Given the description of an element on the screen output the (x, y) to click on. 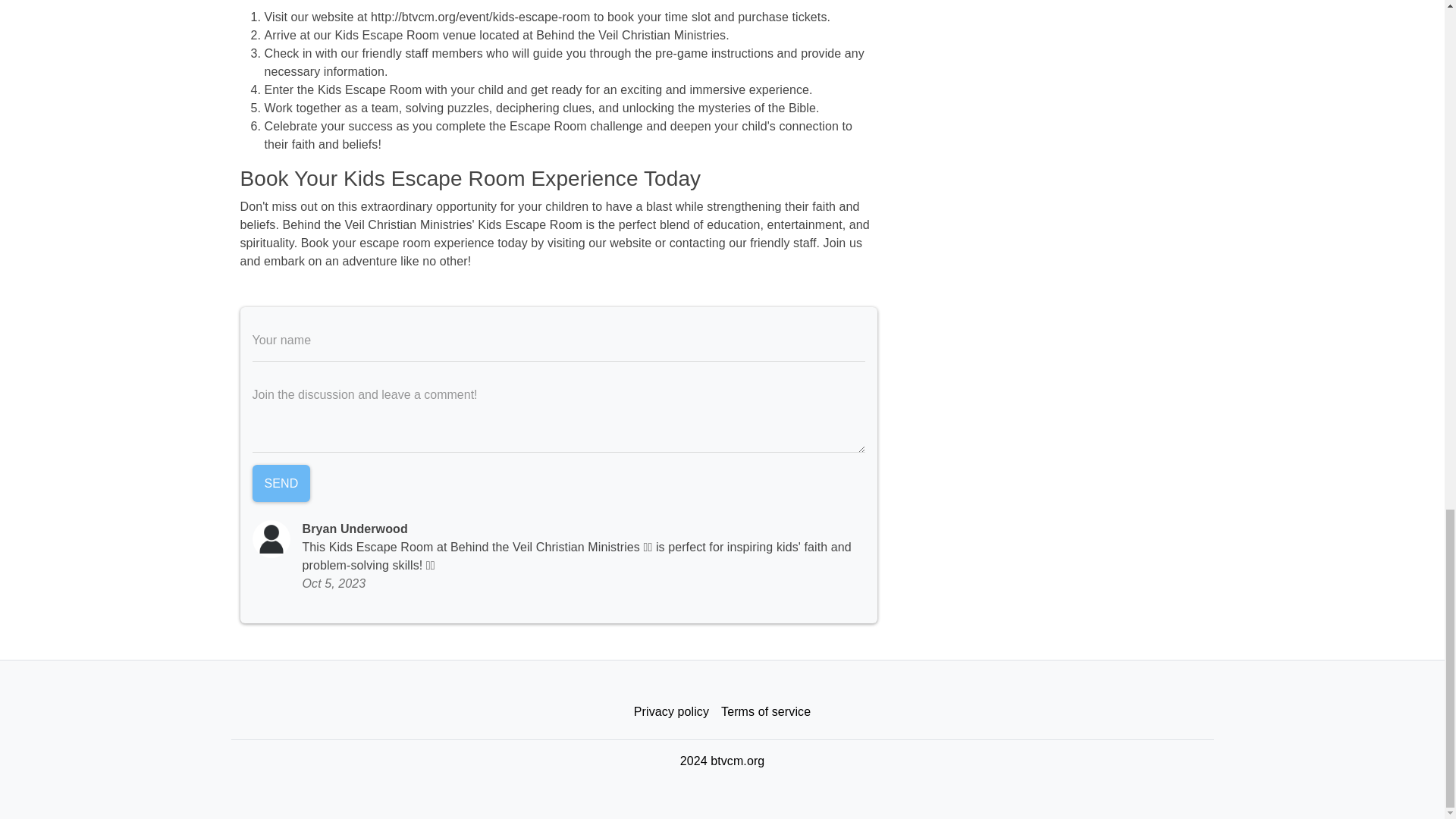
Terms of service (765, 711)
Send (280, 483)
Privacy policy (670, 711)
Send (280, 483)
